Given the description of an element on the screen output the (x, y) to click on. 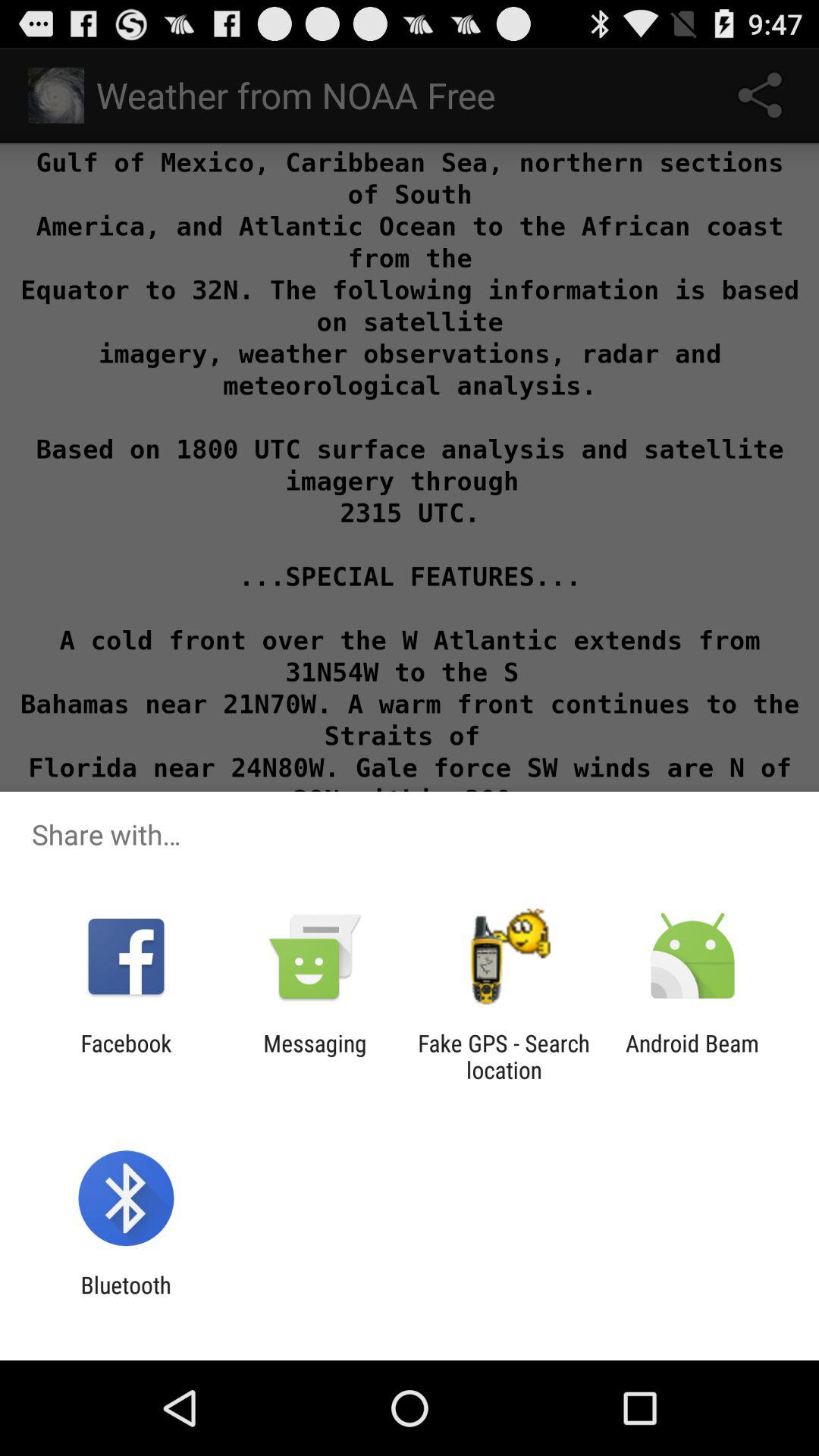
flip until bluetooth (125, 1298)
